Given the description of an element on the screen output the (x, y) to click on. 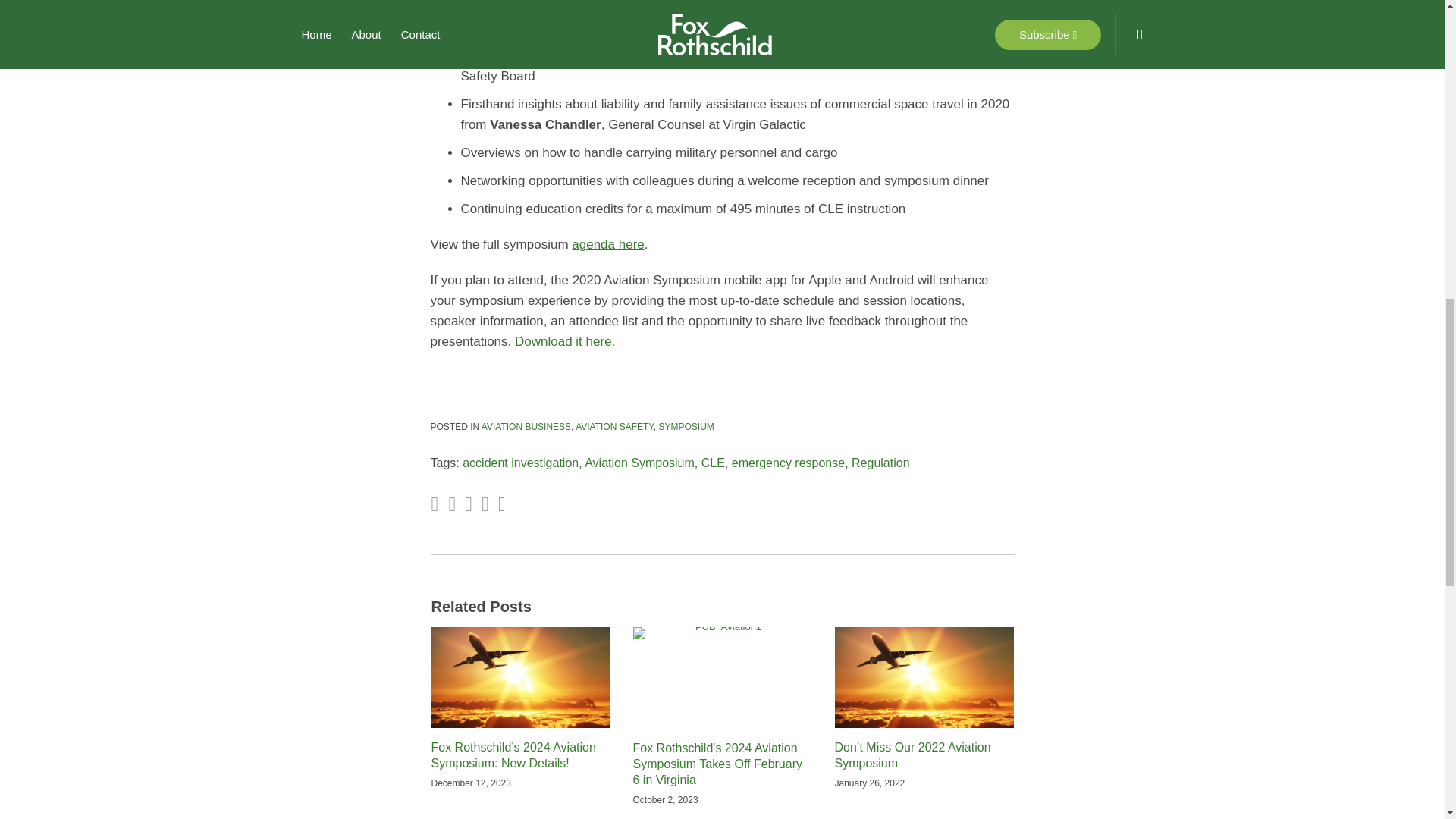
CLE (713, 462)
Download it here (563, 341)
accident investigation (520, 462)
AVIATION BUSINESS (525, 426)
SYMPOSIUM (685, 426)
emergency response (788, 462)
Aviation Symposium (639, 462)
AVIATION SAFETY (614, 426)
Regulation (880, 462)
